Given the description of an element on the screen output the (x, y) to click on. 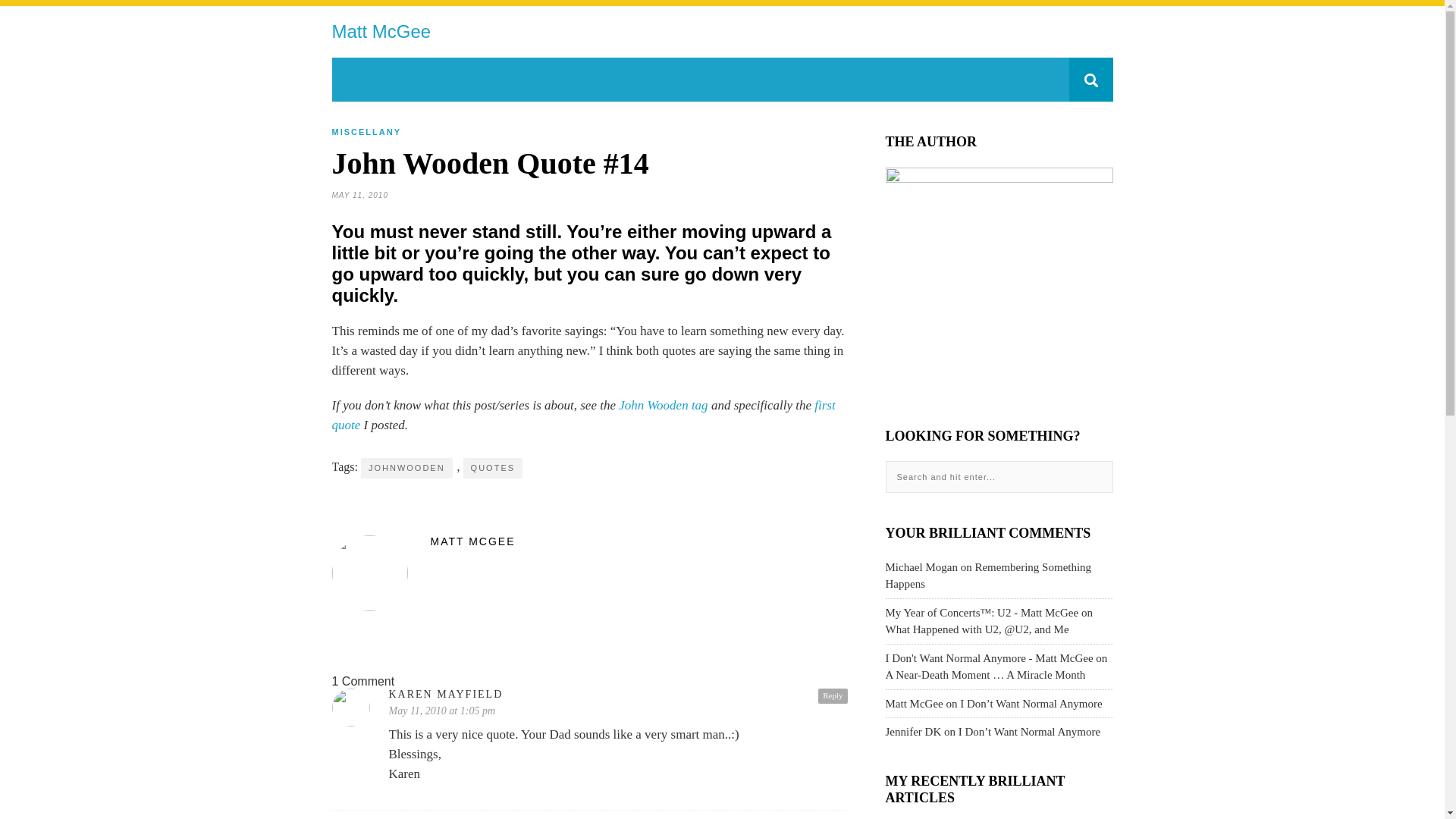
Matt McGee (380, 31)
JOHNWOODEN (406, 467)
first quote (583, 415)
QUOTES (492, 467)
I Don't Want Normal Anymore - Matt McGee (989, 657)
Reply (832, 695)
MATT MCGEE (589, 541)
John Wooden tag (662, 405)
View all posts in Miscellany (366, 131)
Posts by Matt McGee (589, 541)
